Given the description of an element on the screen output the (x, y) to click on. 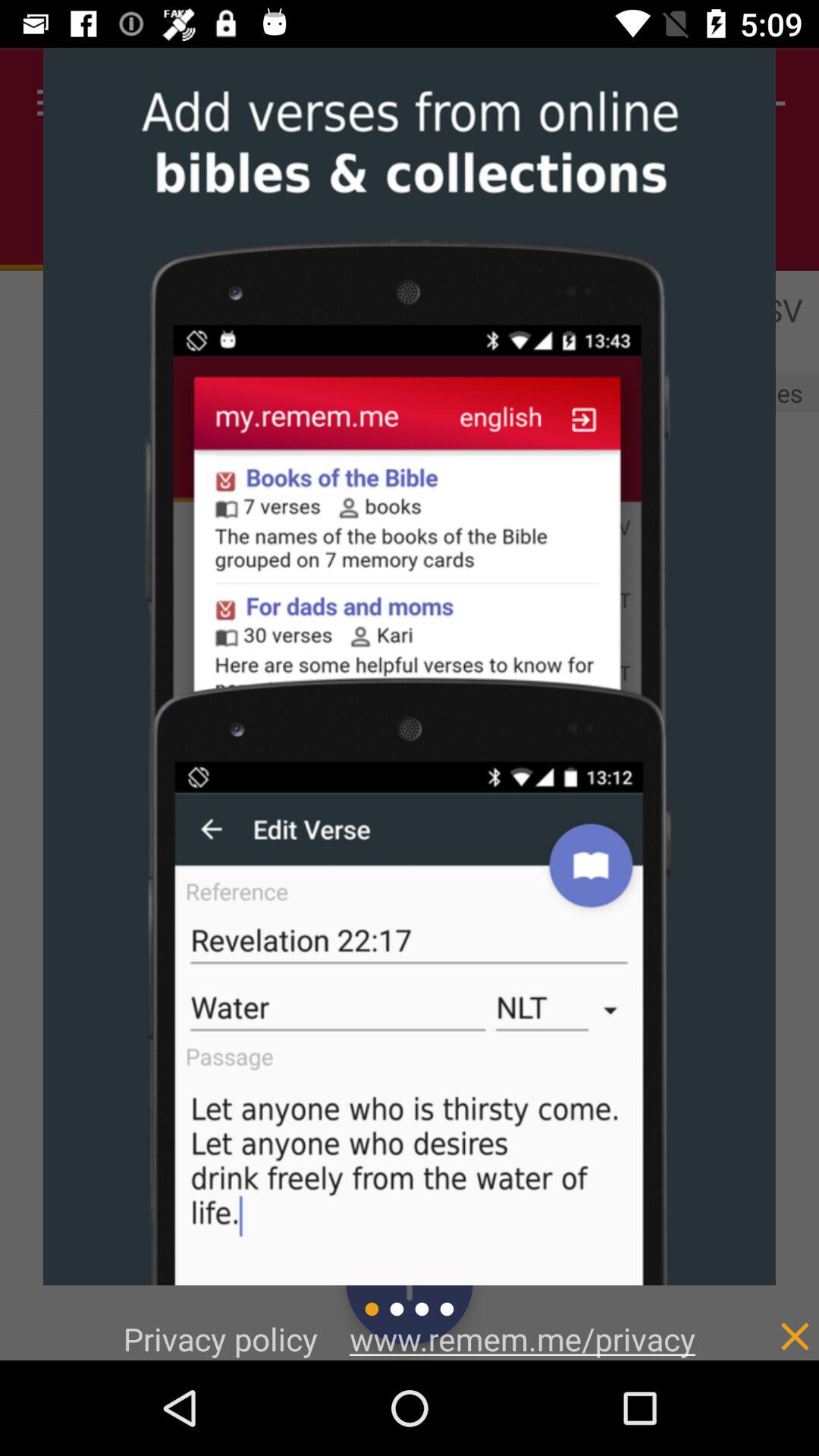
close window (763, 1320)
